Given the description of an element on the screen output the (x, y) to click on. 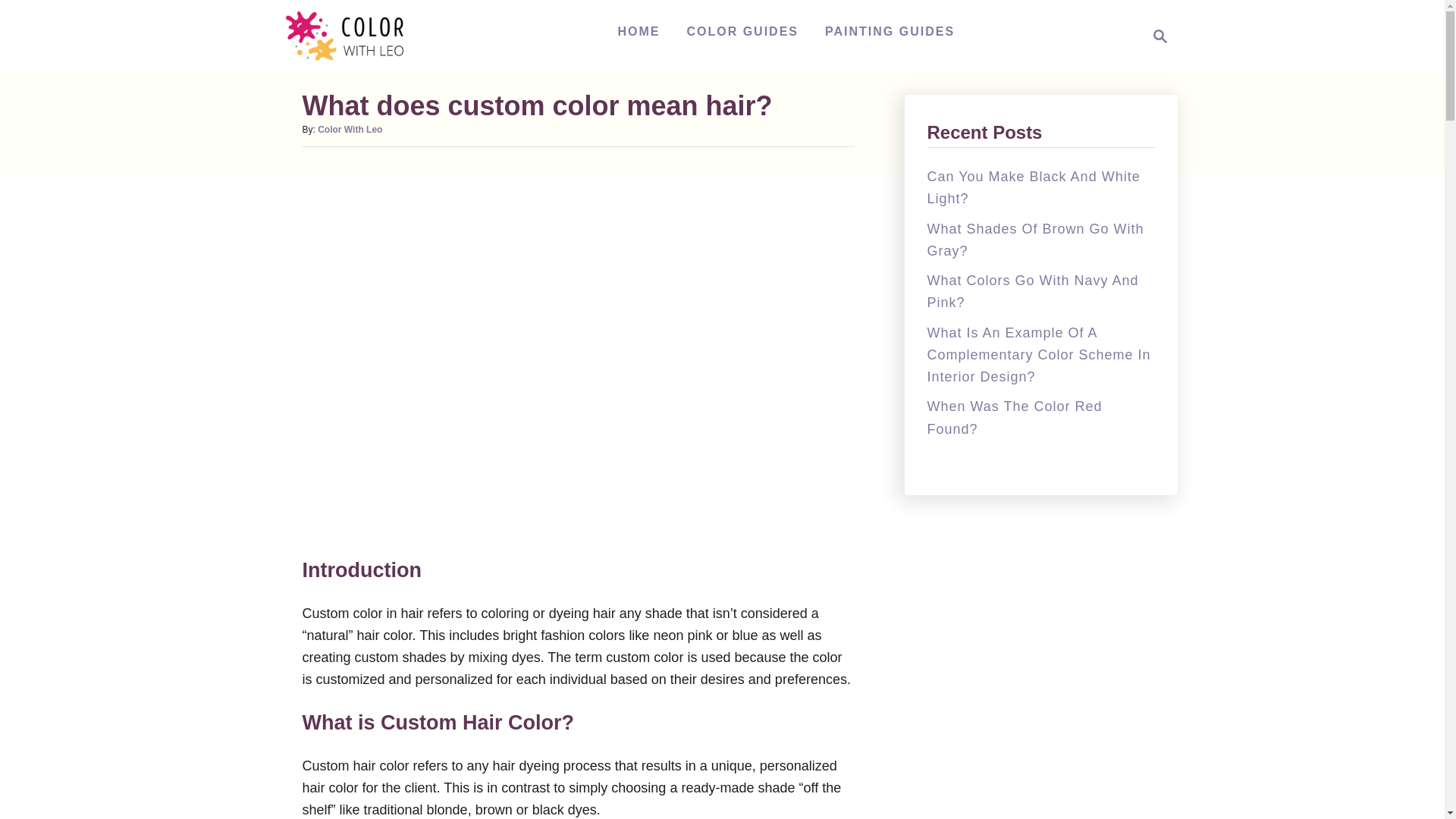
PAINTING GUIDES (889, 31)
What Shades Of Brown Go With Gray? (1034, 239)
Color With Leo (349, 129)
Can You Make Black And White Light? (1155, 36)
HOME (1033, 187)
Color With Leo (638, 31)
When Was The Color Red Found? (353, 35)
Magnifying Glass (1014, 416)
